Given the description of an element on the screen output the (x, y) to click on. 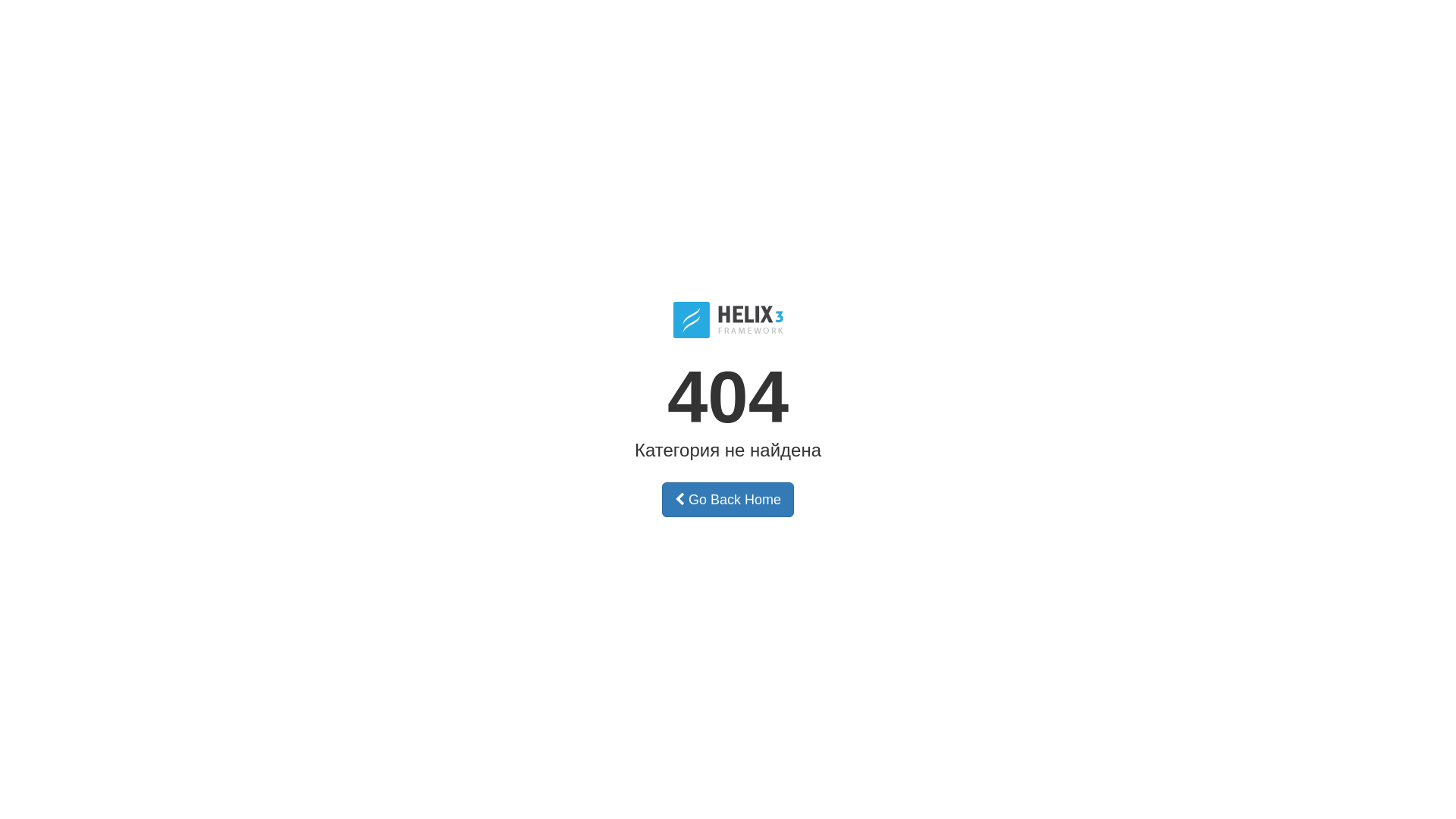
Go Back Home Element type: text (727, 499)
